Given the description of an element on the screen output the (x, y) to click on. 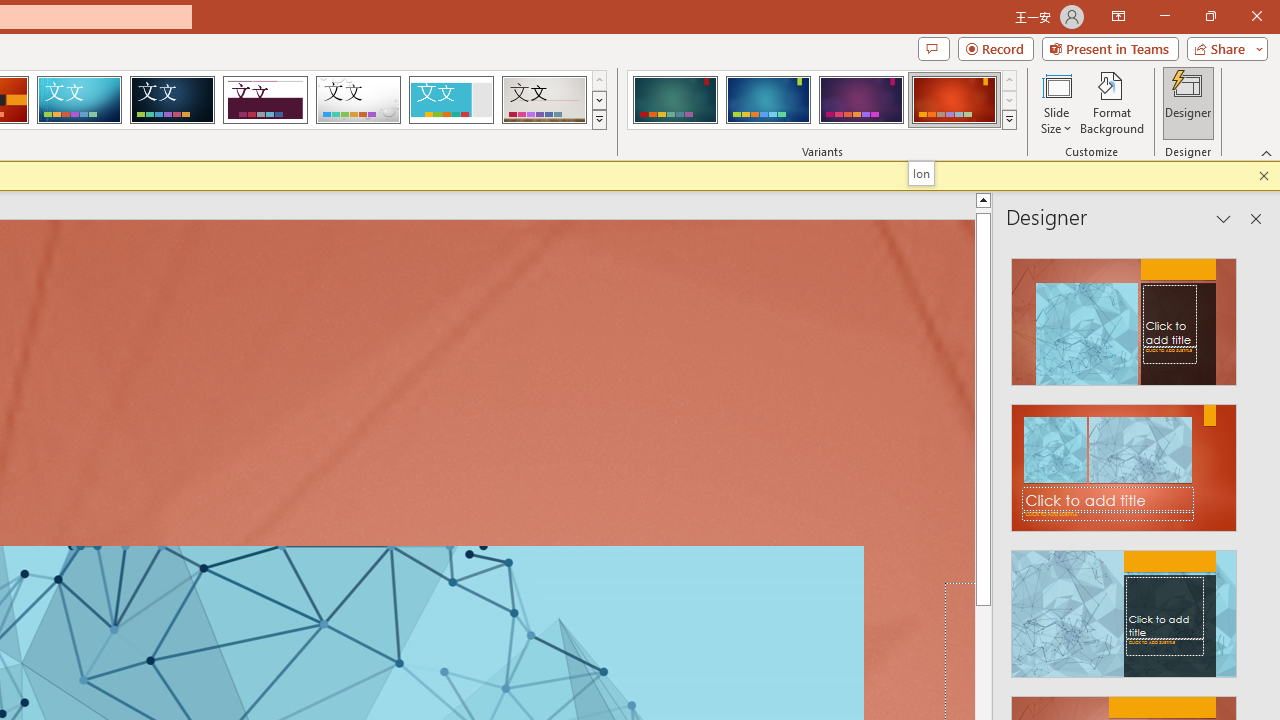
Ion Variant 3 (861, 100)
Ion Variant 1 (674, 100)
